Given the description of an element on the screen output the (x, y) to click on. 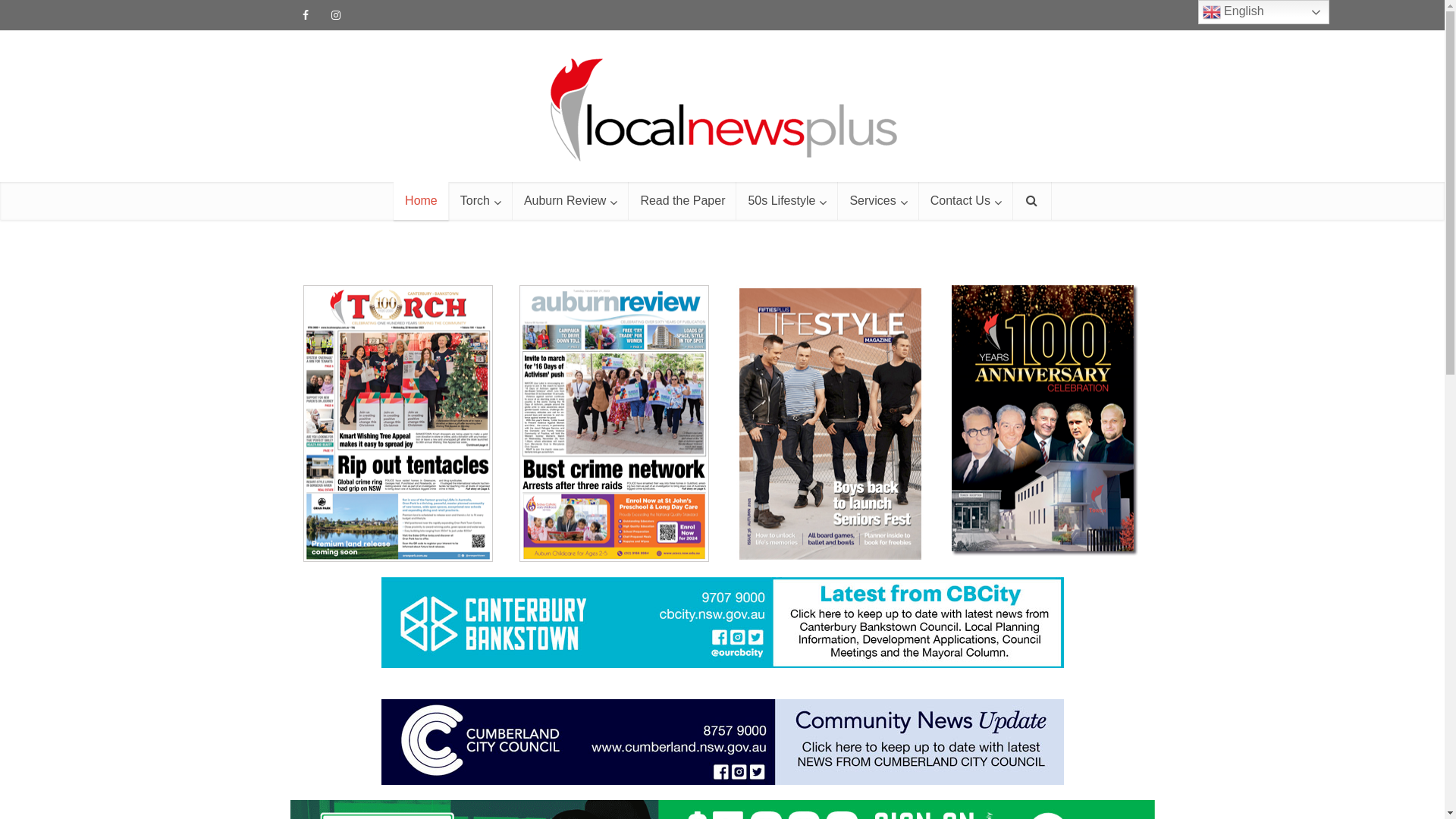
English Element type: text (1263, 12)
50s Lifestyle Element type: text (786, 200)
Auburn Review Element type: text (570, 200)
Home Element type: text (420, 200)
Torch Element type: text (480, 200)
Services Element type: text (877, 200)
Contact Us Element type: text (966, 200)
Read the Paper Element type: text (682, 200)
